Given the description of an element on the screen output the (x, y) to click on. 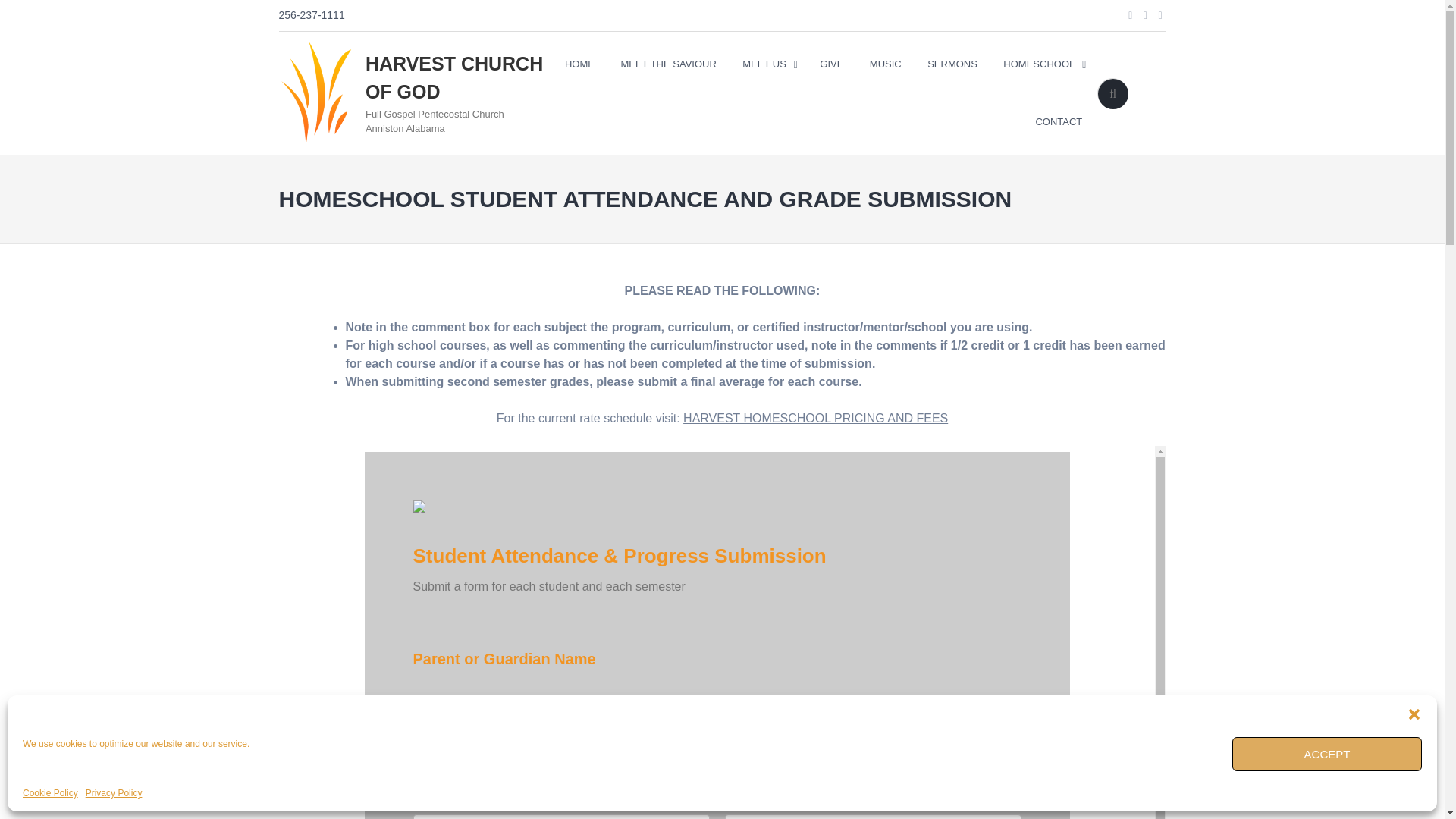
MEET US (767, 64)
MEET THE SAVIOUR (667, 64)
ACCEPT (1326, 754)
Cookie Policy (50, 793)
HARVEST CHURCH OF GOD (454, 78)
HOME (579, 64)
Privacy Policy (113, 793)
